Given the description of an element on the screen output the (x, y) to click on. 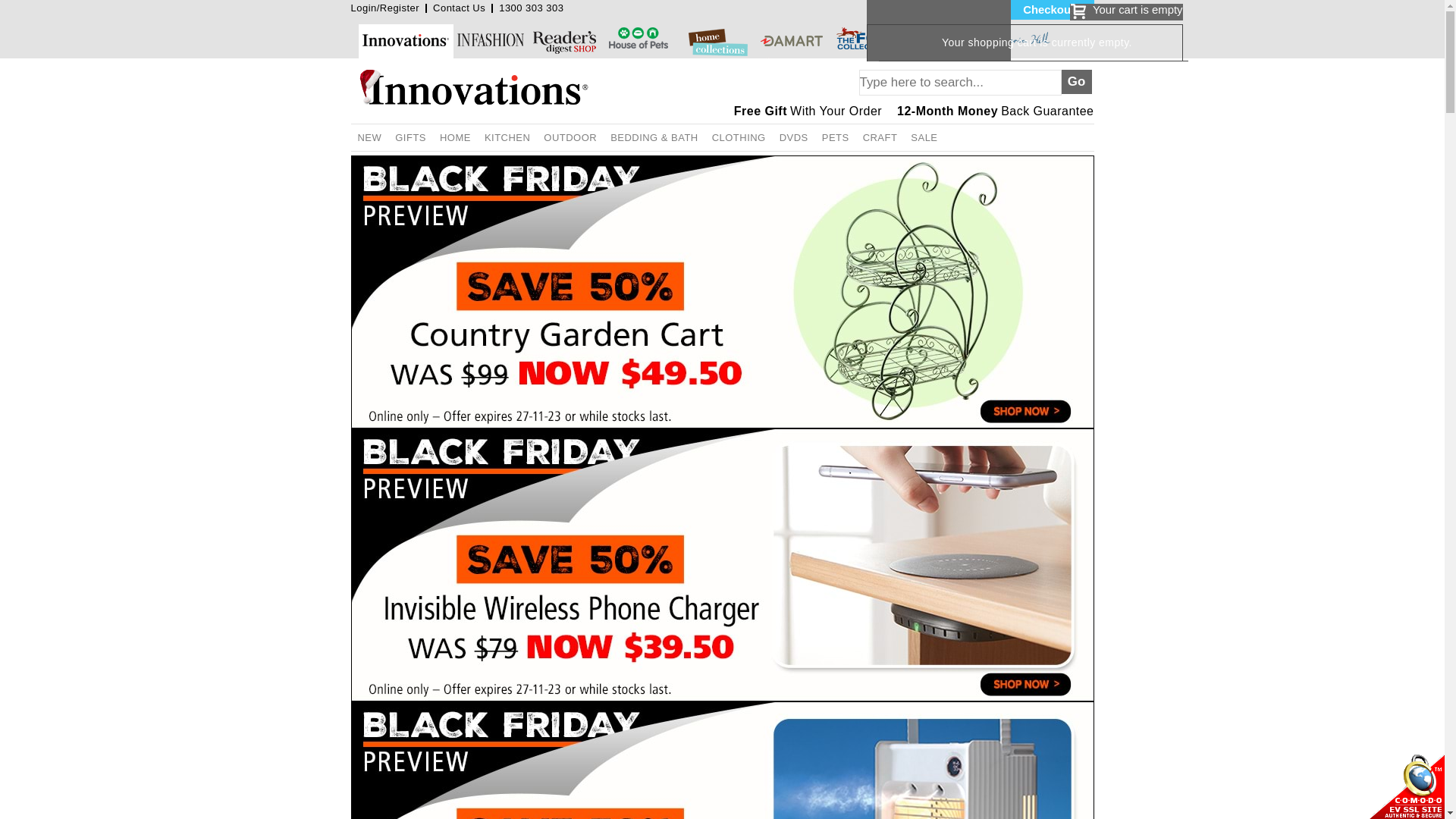
PETS Element type: text (835, 137)
DVDS Element type: text (793, 137)
Contact Us Element type: text (459, 8)
KITCHEN Element type: text (506, 137)
Login/Register Element type: text (384, 8)
Go Element type: text (1076, 81)
NEW Element type: text (369, 137)
Your cart is empty Element type: text (1126, 11)
CLOTHING Element type: text (738, 137)
HOME Element type: text (455, 137)
CRAFT Element type: text (880, 137)
GIFTS Element type: text (410, 137)
BEDDING & BATH Element type: text (654, 137)
OUTDOOR Element type: text (569, 137)
SALE Element type: text (923, 137)
Checkout > Element type: text (1051, 9)
